Given the description of an element on the screen output the (x, y) to click on. 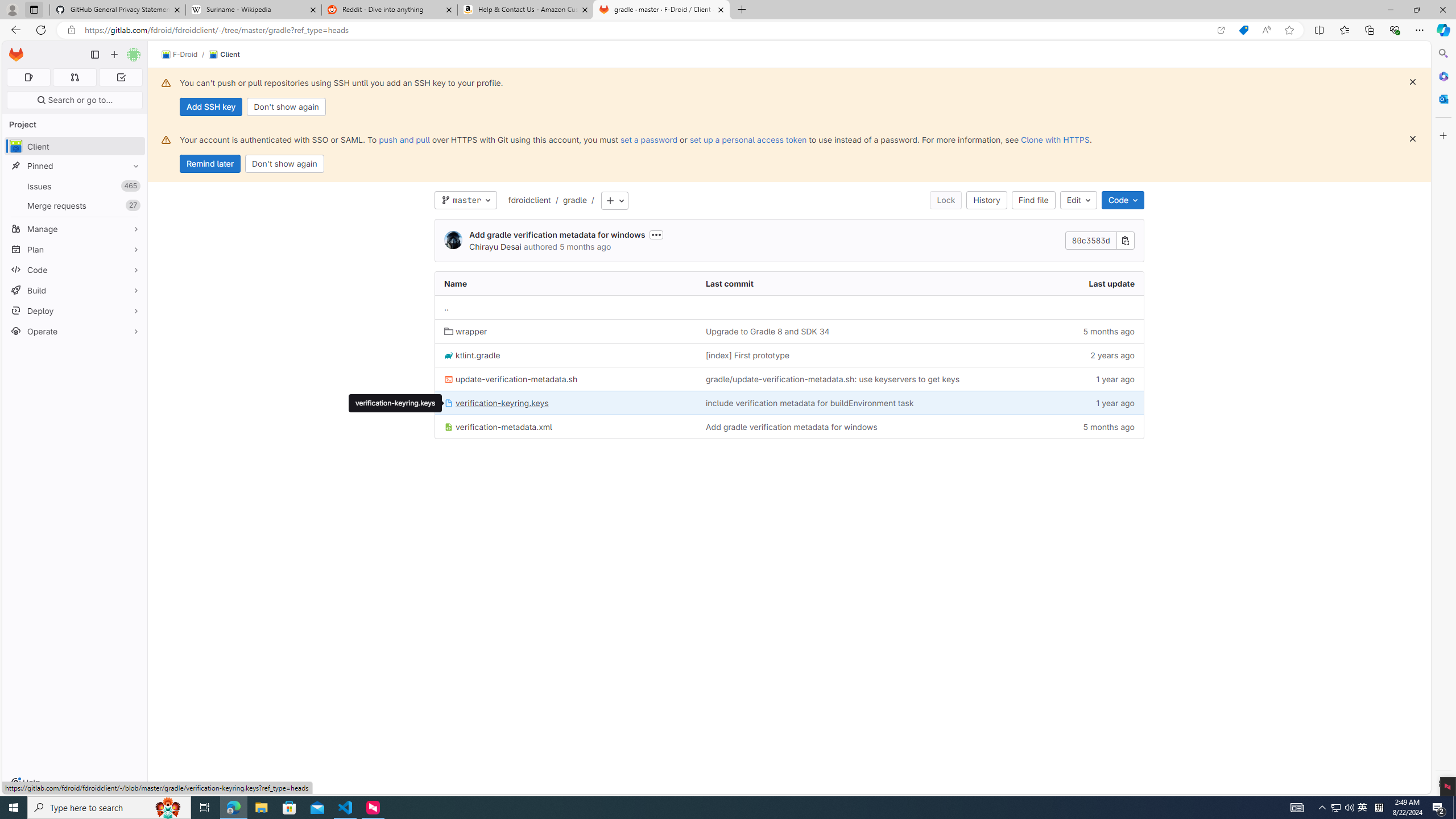
wrapper (566, 331)
Last update (1077, 283)
Deploy (74, 310)
1 year ago (1077, 402)
Don't show again (284, 163)
Go to parent (789, 306)
Build (74, 289)
Deploy (74, 310)
Chirayu Desai (494, 246)
Class: s16 gl-icon gl-button-icon  (1411, 138)
Add SSH key (211, 106)
wrapper (465, 331)
